Given the description of an element on the screen output the (x, y) to click on. 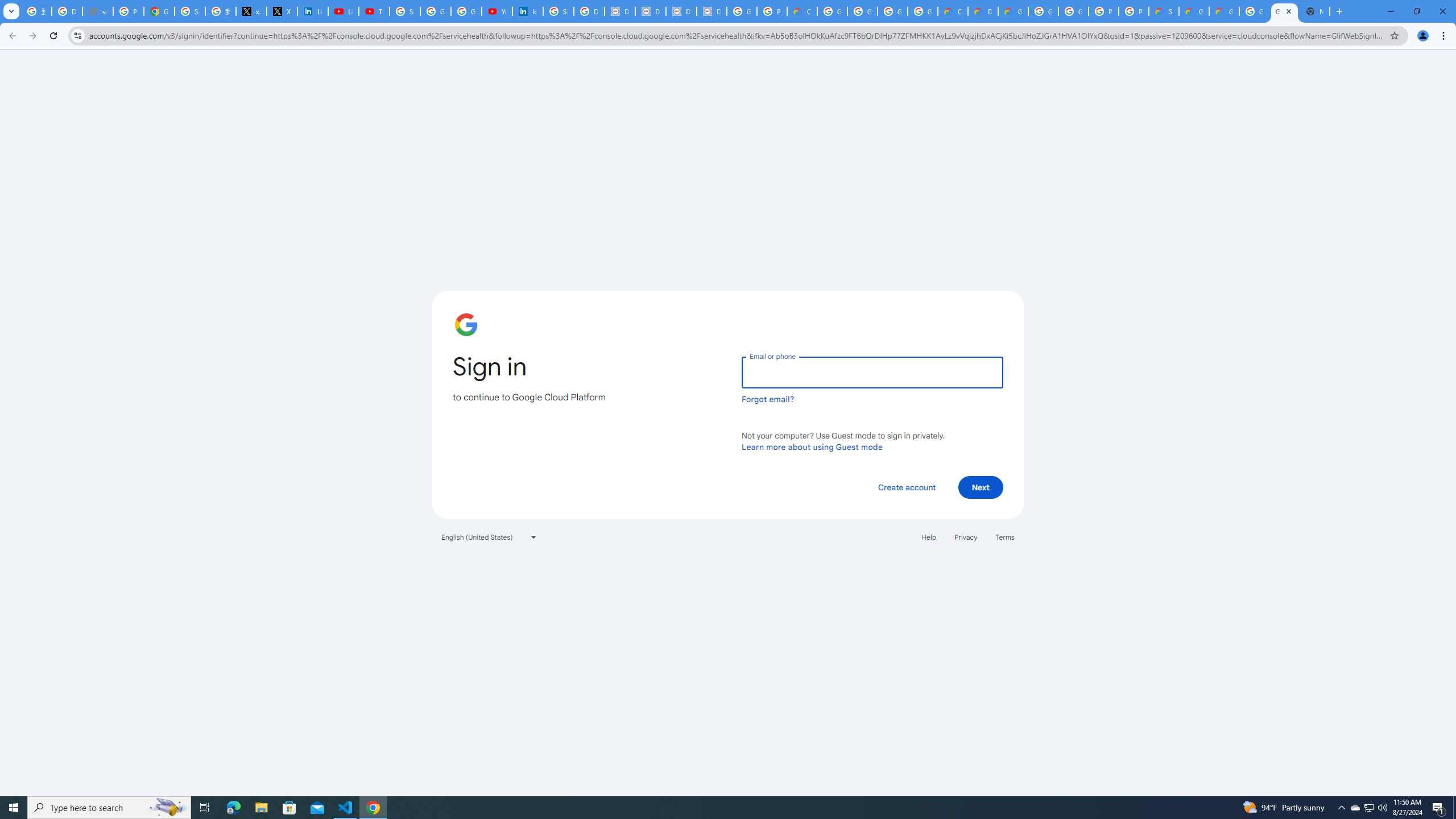
Gemini for Business and Developers | Google Cloud (1012, 11)
Google Cloud Service Health (1224, 11)
support.google.com - Network error (97, 11)
Google Cloud Platform (1042, 11)
Support Hub | Google Cloud (1163, 11)
LinkedIn Privacy Policy (312, 11)
